Given the description of an element on the screen output the (x, y) to click on. 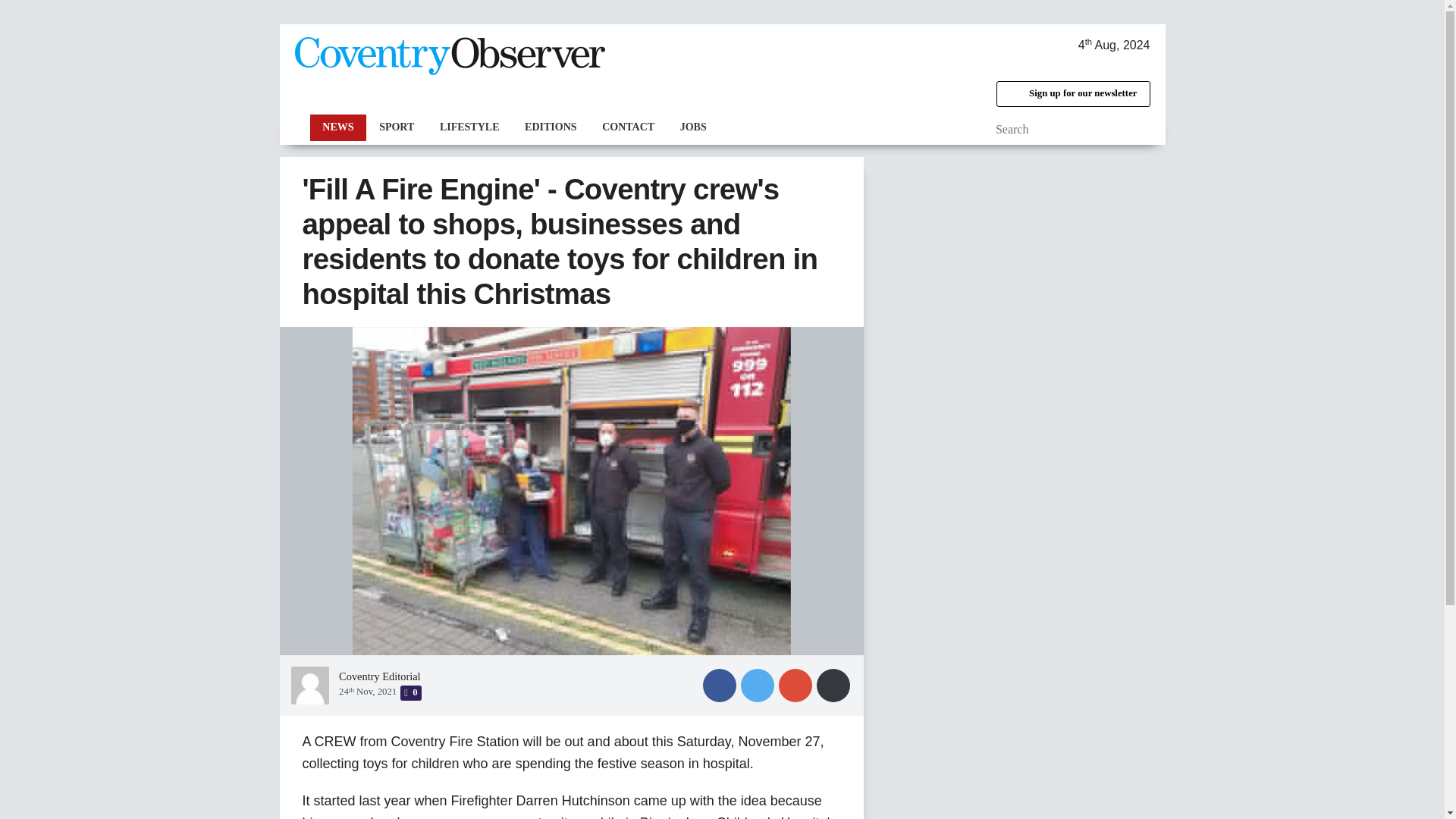
CONTACT (627, 127)
EDITIONS (550, 127)
LIFESTYLE (469, 127)
The Coventry Observer (449, 55)
SPORT (396, 127)
JOBS (692, 127)
  Sign up for our newsletter (1072, 94)
NEWS (337, 127)
